Given the description of an element on the screen output the (x, y) to click on. 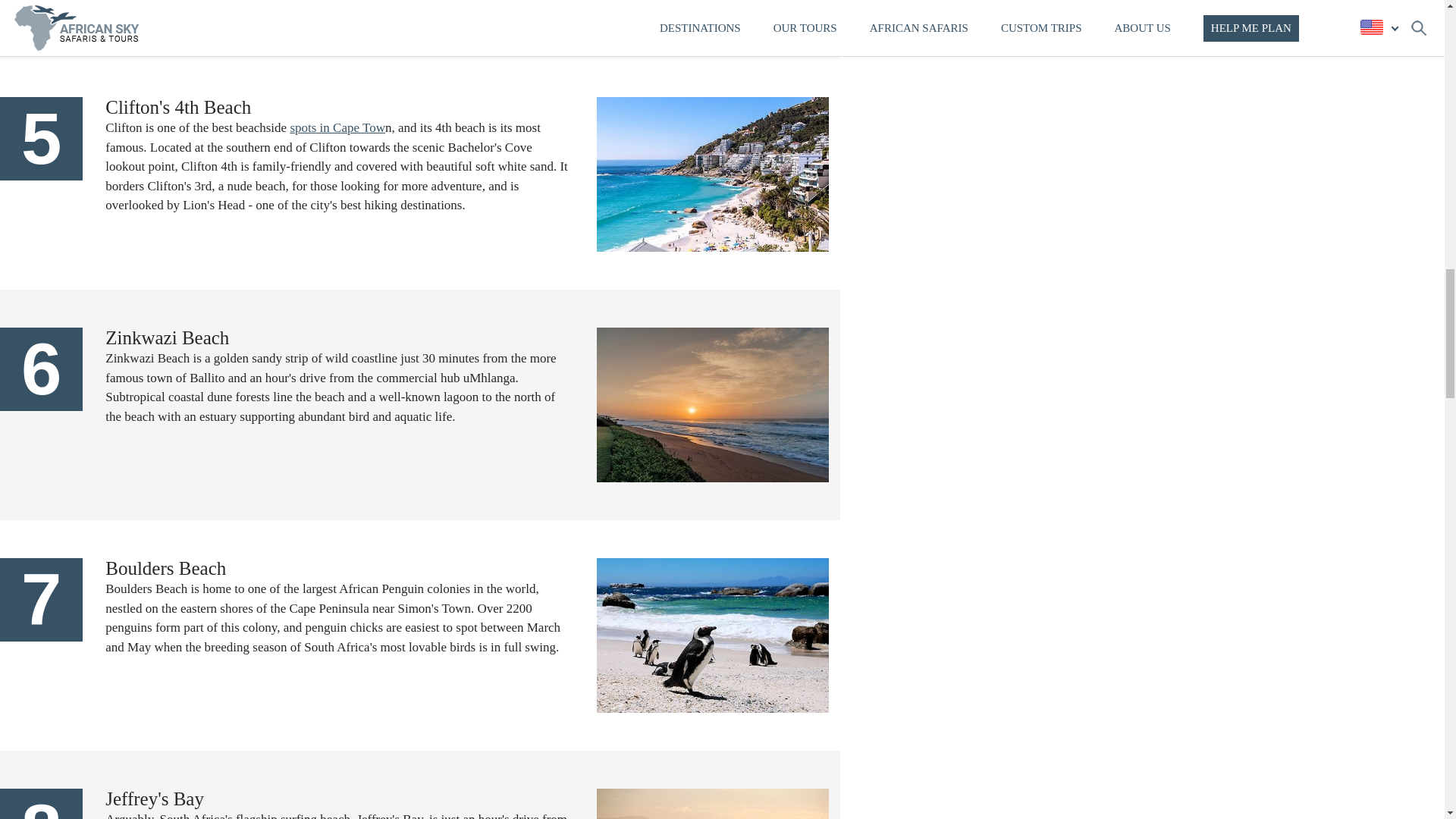
spots in Cape Tow (337, 127)
